Given the description of an element on the screen output the (x, y) to click on. 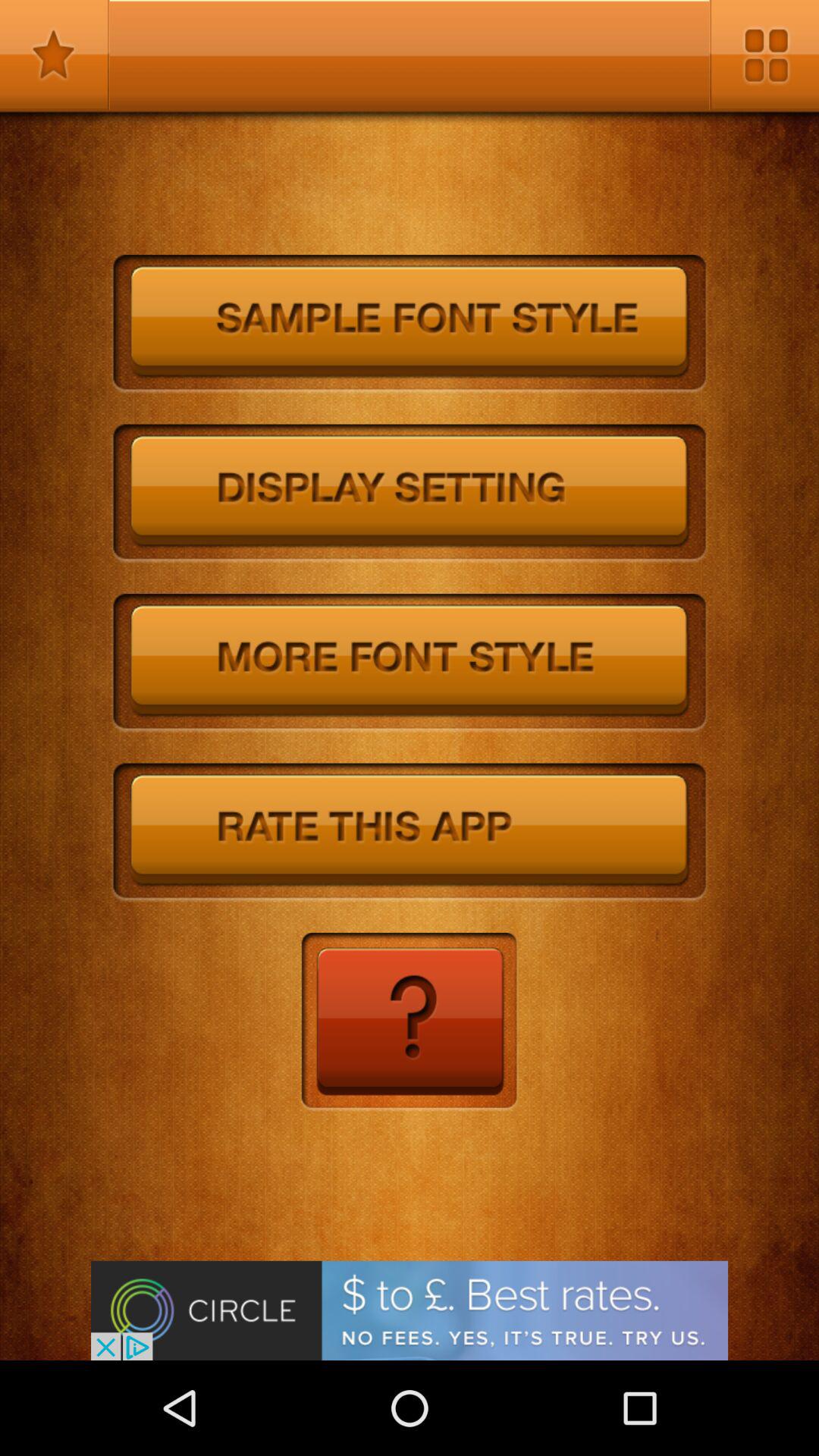
go to screen to rate app (409, 832)
